Given the description of an element on the screen output the (x, y) to click on. 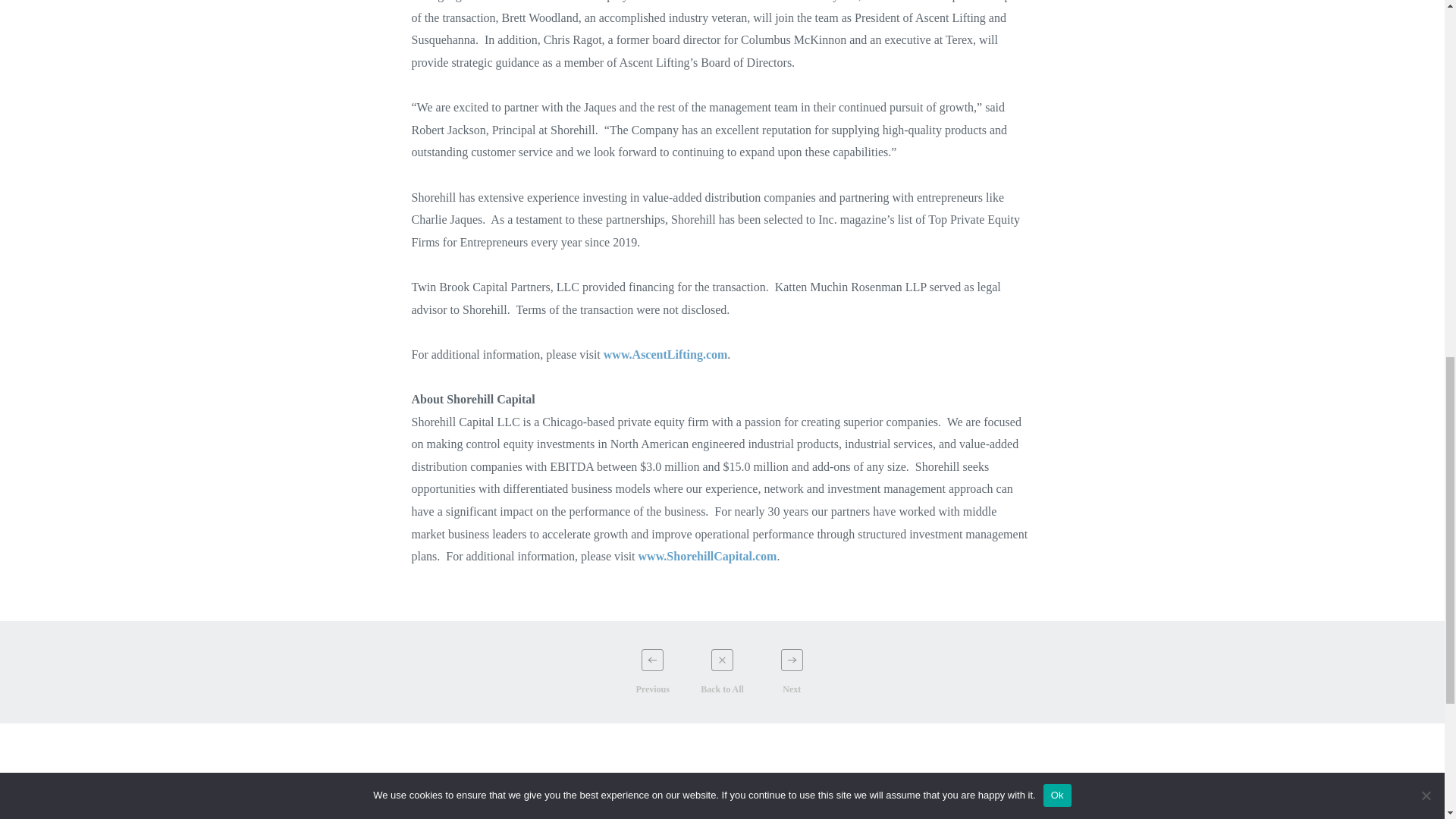
www.ShorehillCapital.com (708, 555)
www.AscentLifting.com (666, 354)
